Given the description of an element on the screen output the (x, y) to click on. 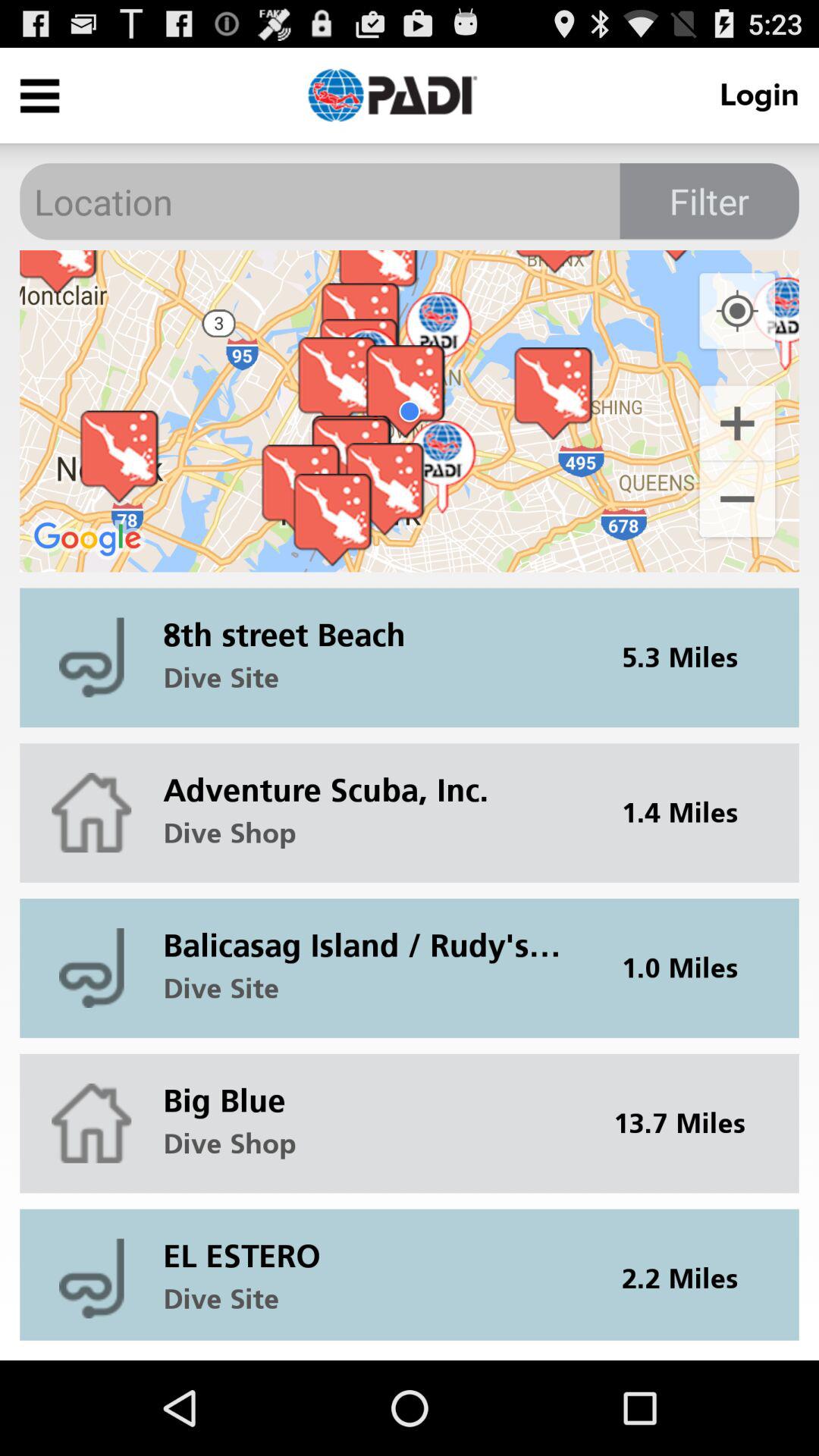
jump to the el estero item (371, 1244)
